Given the description of an element on the screen output the (x, y) to click on. 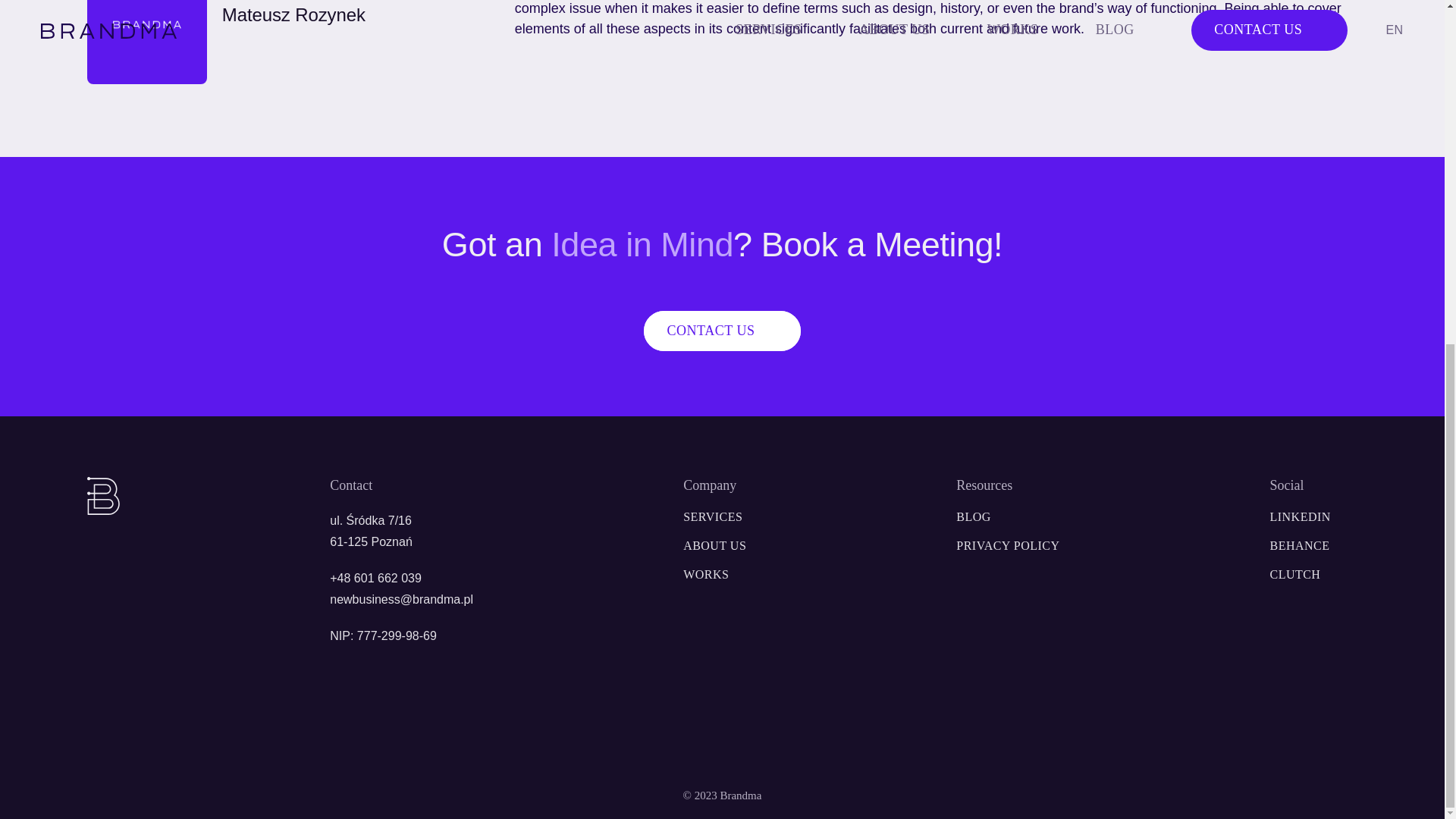
BEHANCE (721, 331)
ABOUT US (1312, 545)
Contact us (713, 545)
BLOG (721, 331)
WORKS (973, 516)
E-mail (705, 574)
PRIVACY POLICY (401, 599)
Behance (1007, 545)
LINKEDIN (1312, 545)
